Given the description of an element on the screen output the (x, y) to click on. 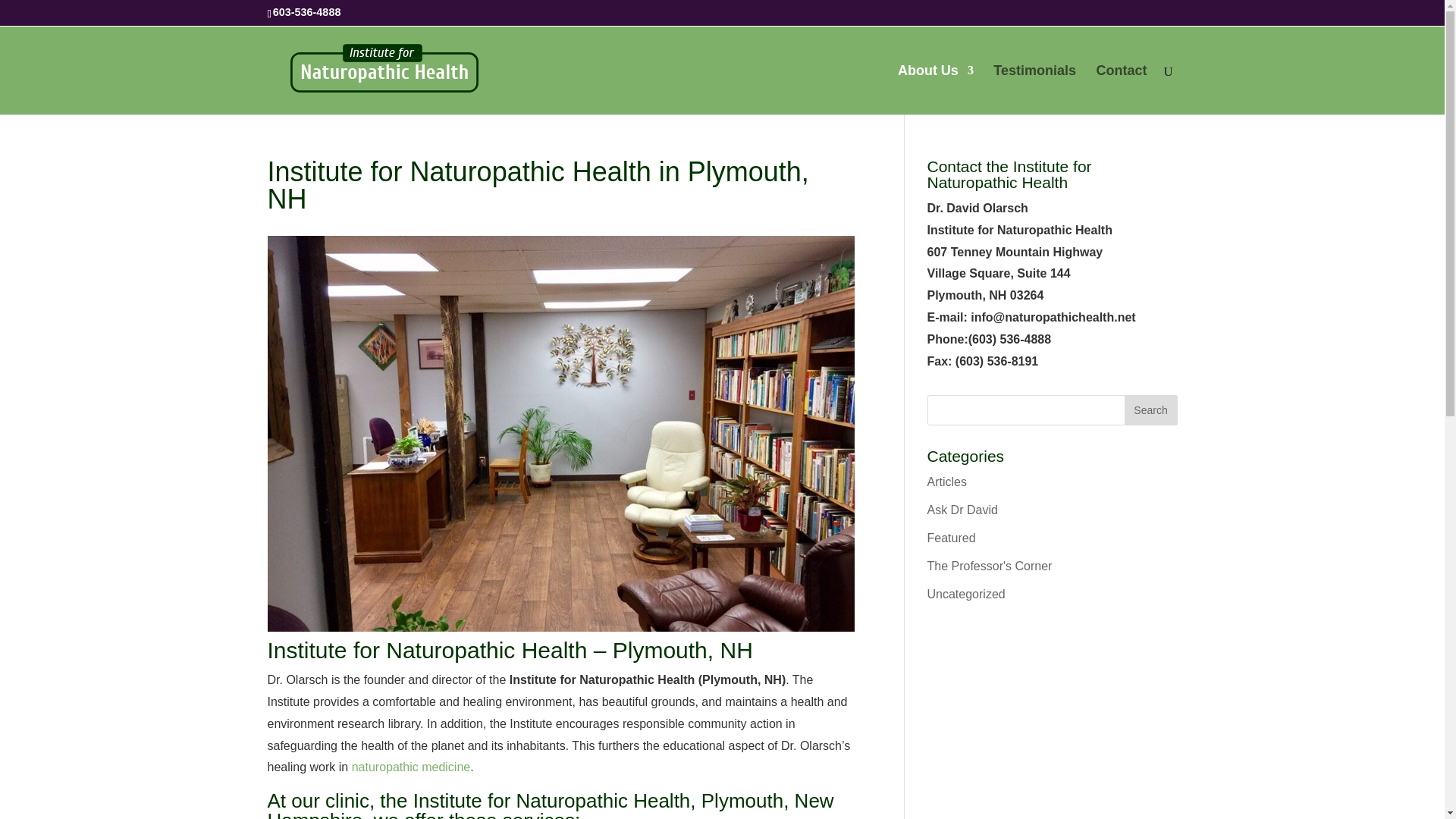
Featured (950, 537)
Uncategorized (965, 594)
Testimonials (1033, 89)
The Professor's Corner (988, 565)
Contact (1121, 89)
Search (1150, 409)
Ask Dr David (961, 509)
naturopathic medicine (411, 766)
Search (1150, 409)
Articles (946, 481)
About Us (936, 89)
